Given the description of an element on the screen output the (x, y) to click on. 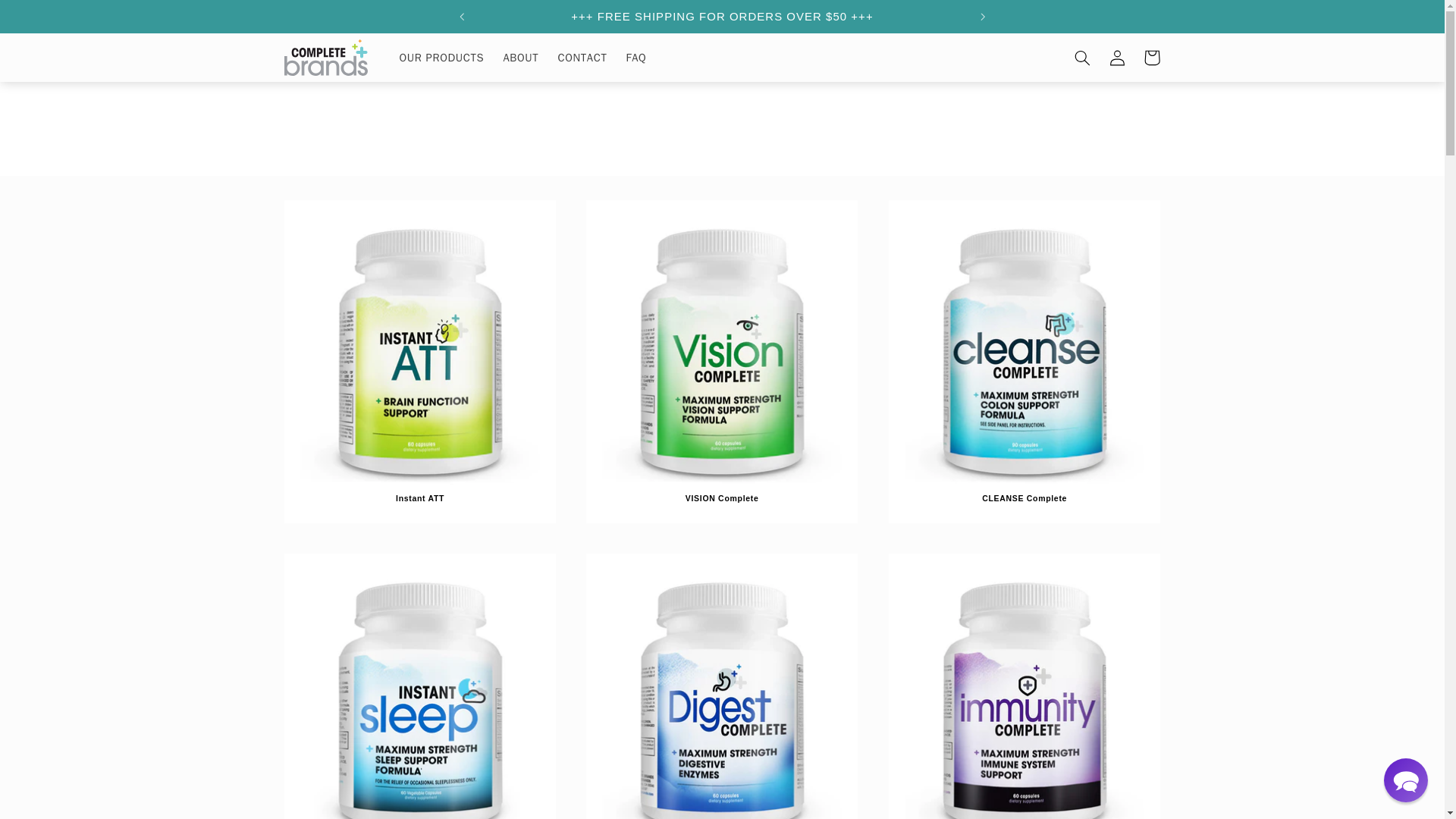
VISION Complete (721, 498)
Skip to content (48, 18)
Cart (1151, 57)
Instant ATT (419, 498)
Log in (1116, 57)
OUR PRODUCTS (441, 57)
CLEANSE Complete (1024, 498)
FAQ (635, 57)
ABOUT (520, 57)
CONTACT (581, 57)
